Given the description of an element on the screen output the (x, y) to click on. 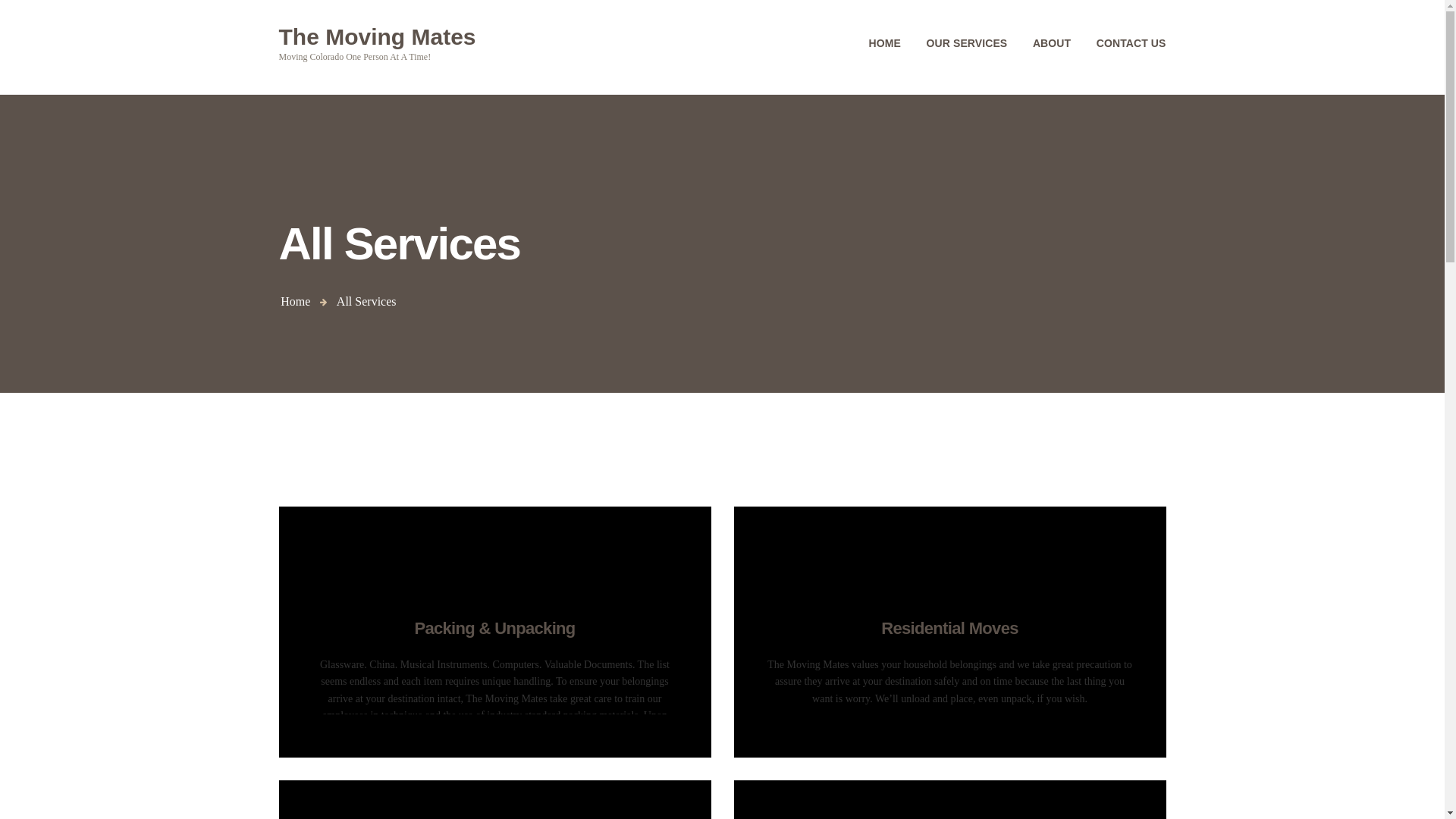
Residential Moves (949, 628)
ABOUT (1051, 42)
Home (295, 301)
OUR SERVICES (967, 42)
HOME (377, 42)
CONTACT US (885, 42)
